Given the description of an element on the screen output the (x, y) to click on. 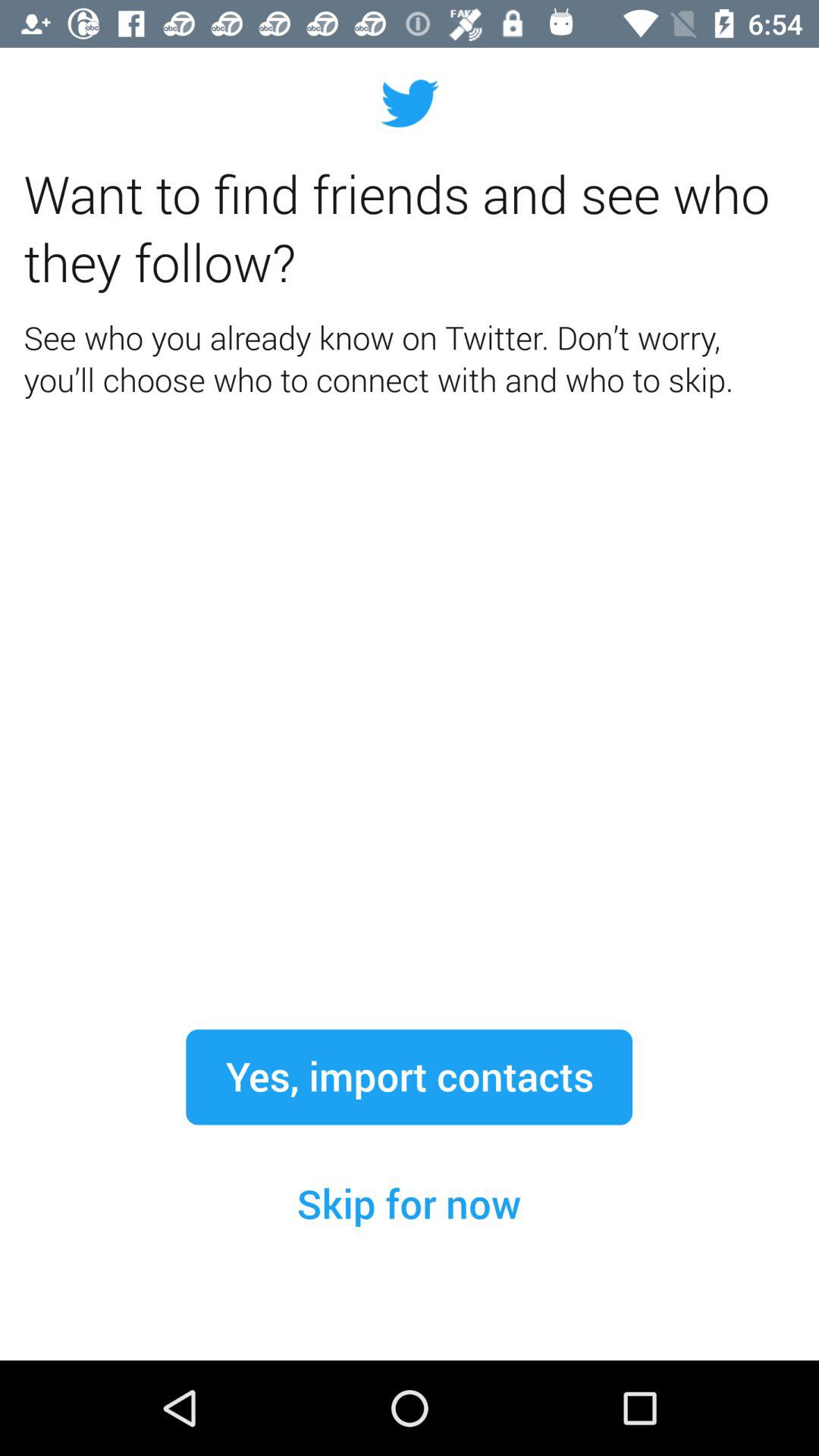
launch icon below the yes, import contacts (408, 1204)
